Given the description of an element on the screen output the (x, y) to click on. 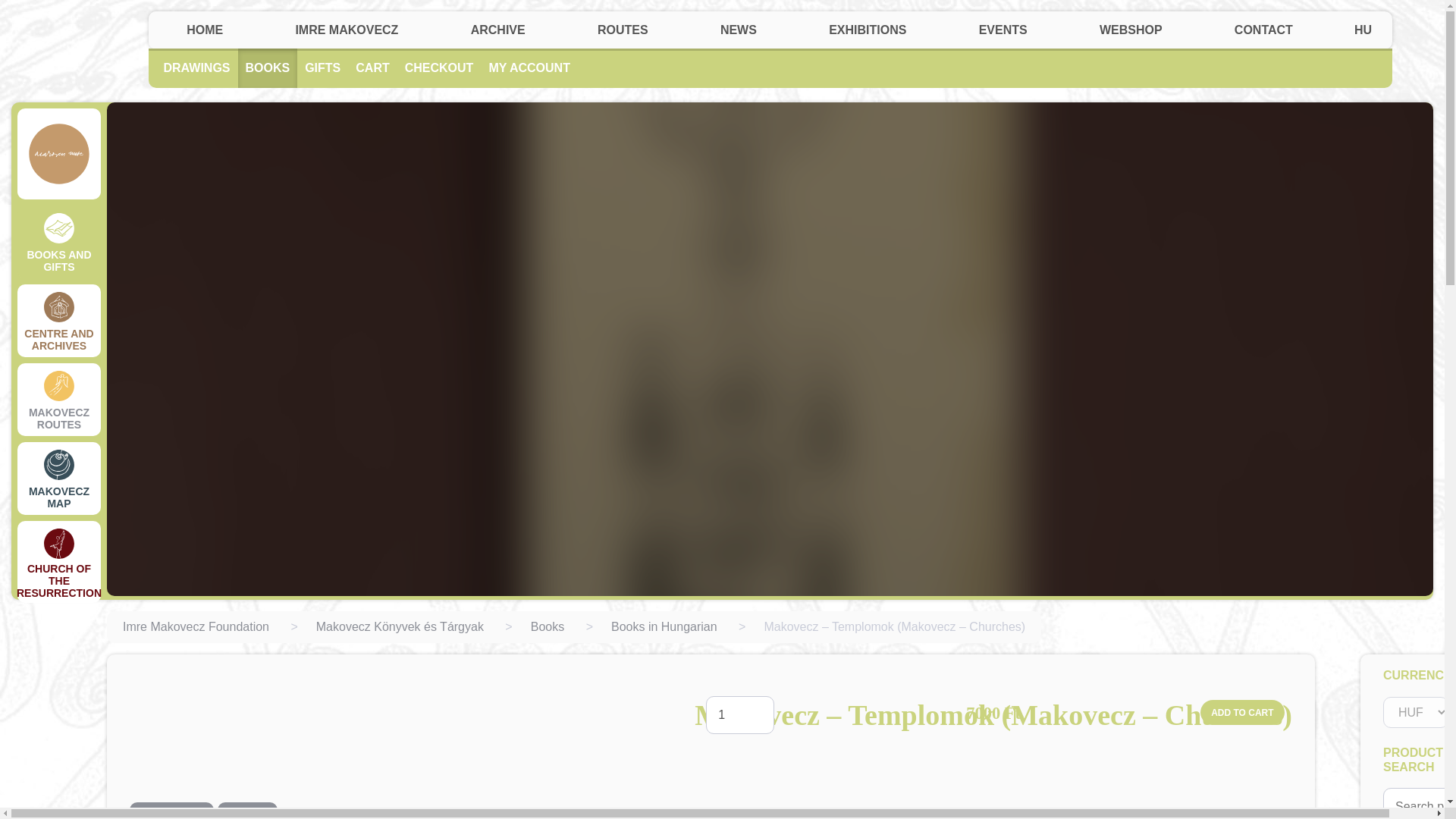
HOME (204, 29)
EXHIBITIONS (867, 31)
ROUTES (622, 31)
WEBSHOP (1130, 31)
Go to Imre Makovecz Foundation. (195, 626)
IMRE MAKOVECZ (347, 31)
1 (740, 714)
Go to the Books Category archives. (547, 626)
EVENTS (1002, 31)
NEWS (737, 29)
